Given the description of an element on the screen output the (x, y) to click on. 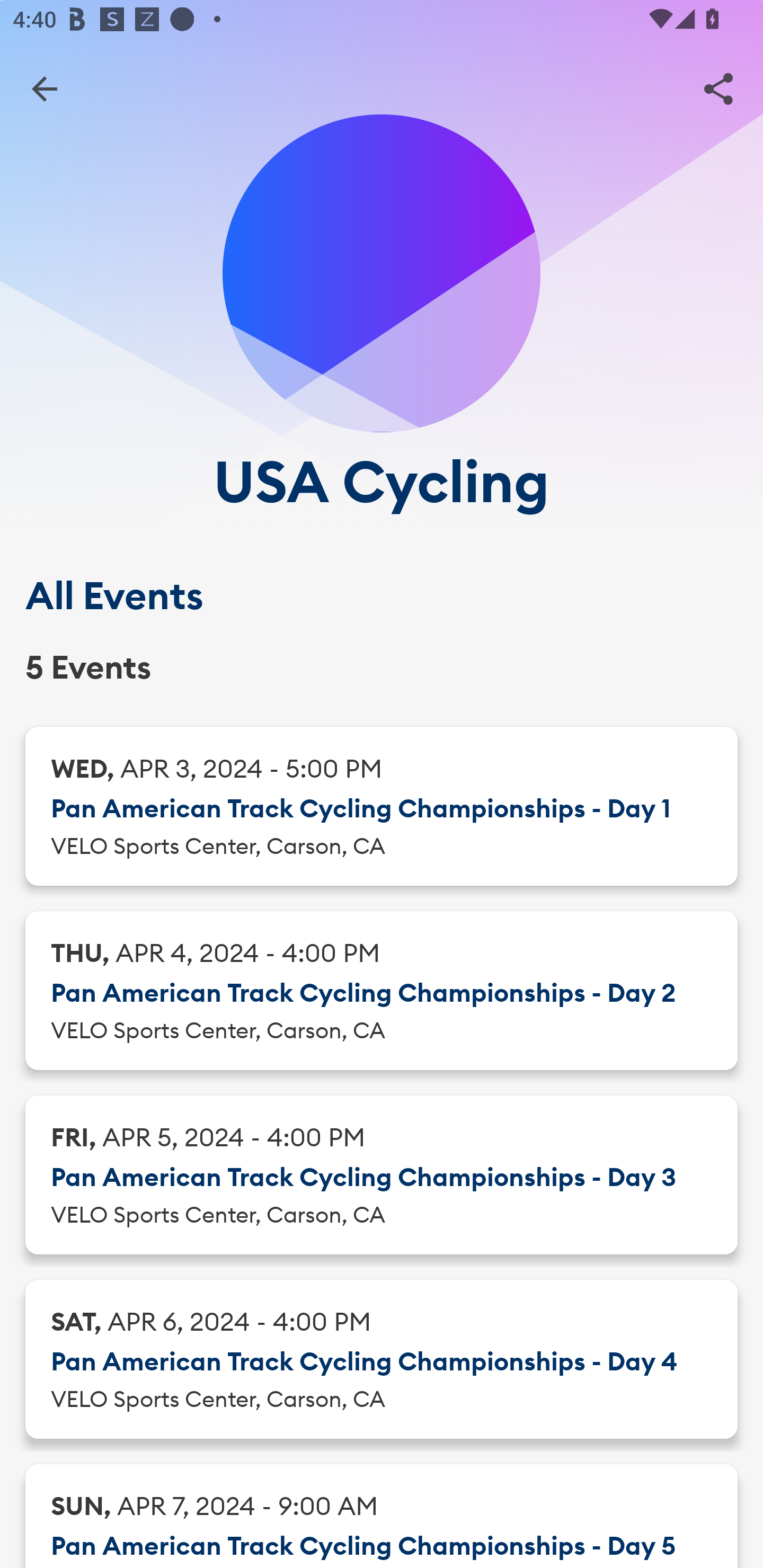
BackButton (44, 88)
Share (718, 88)
